Given the description of an element on the screen output the (x, y) to click on. 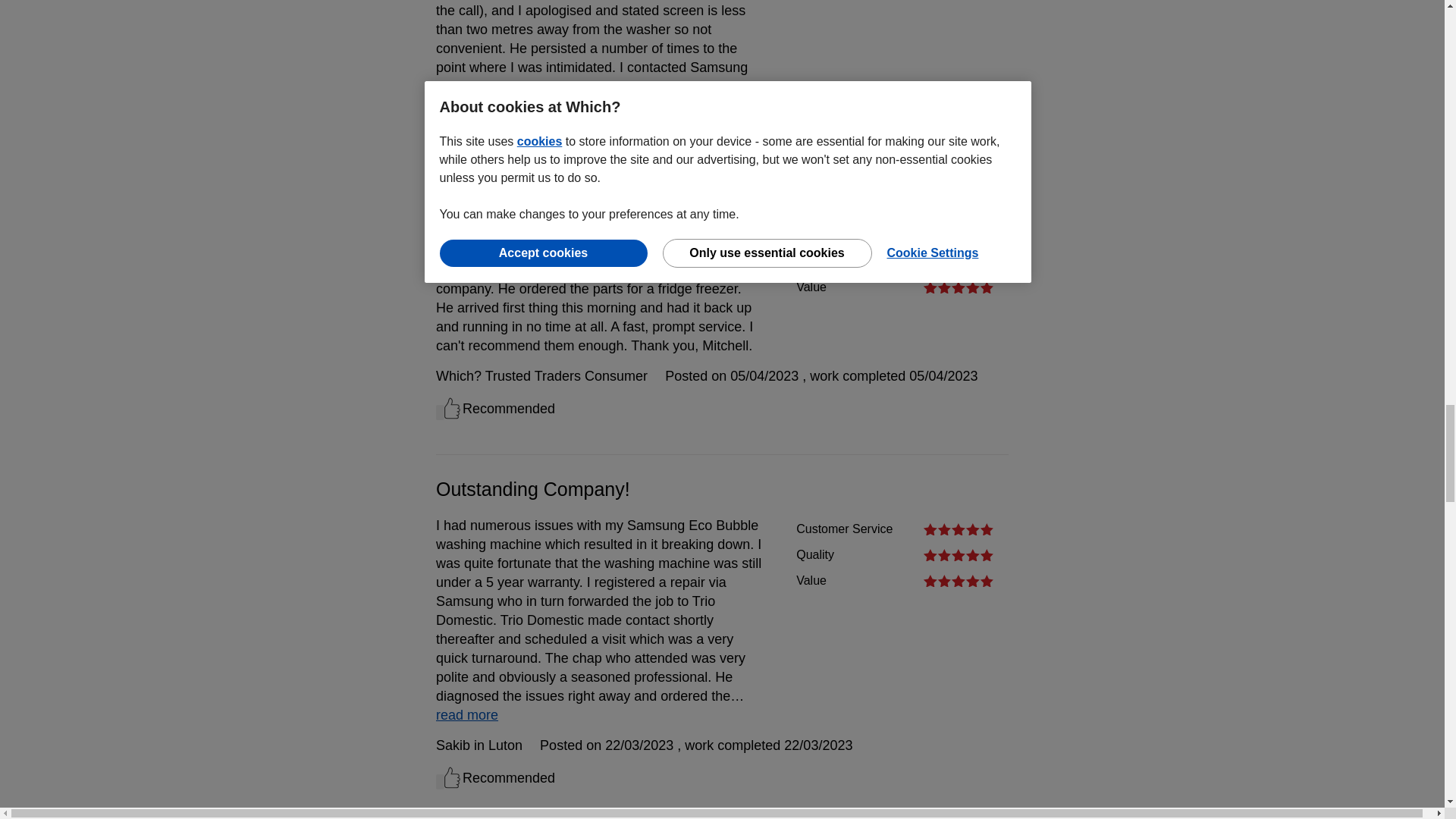
5 (957, 261)
5 (957, 286)
5 (957, 529)
5 (957, 554)
5 (957, 235)
5 (957, 580)
